Given the description of an element on the screen output the (x, y) to click on. 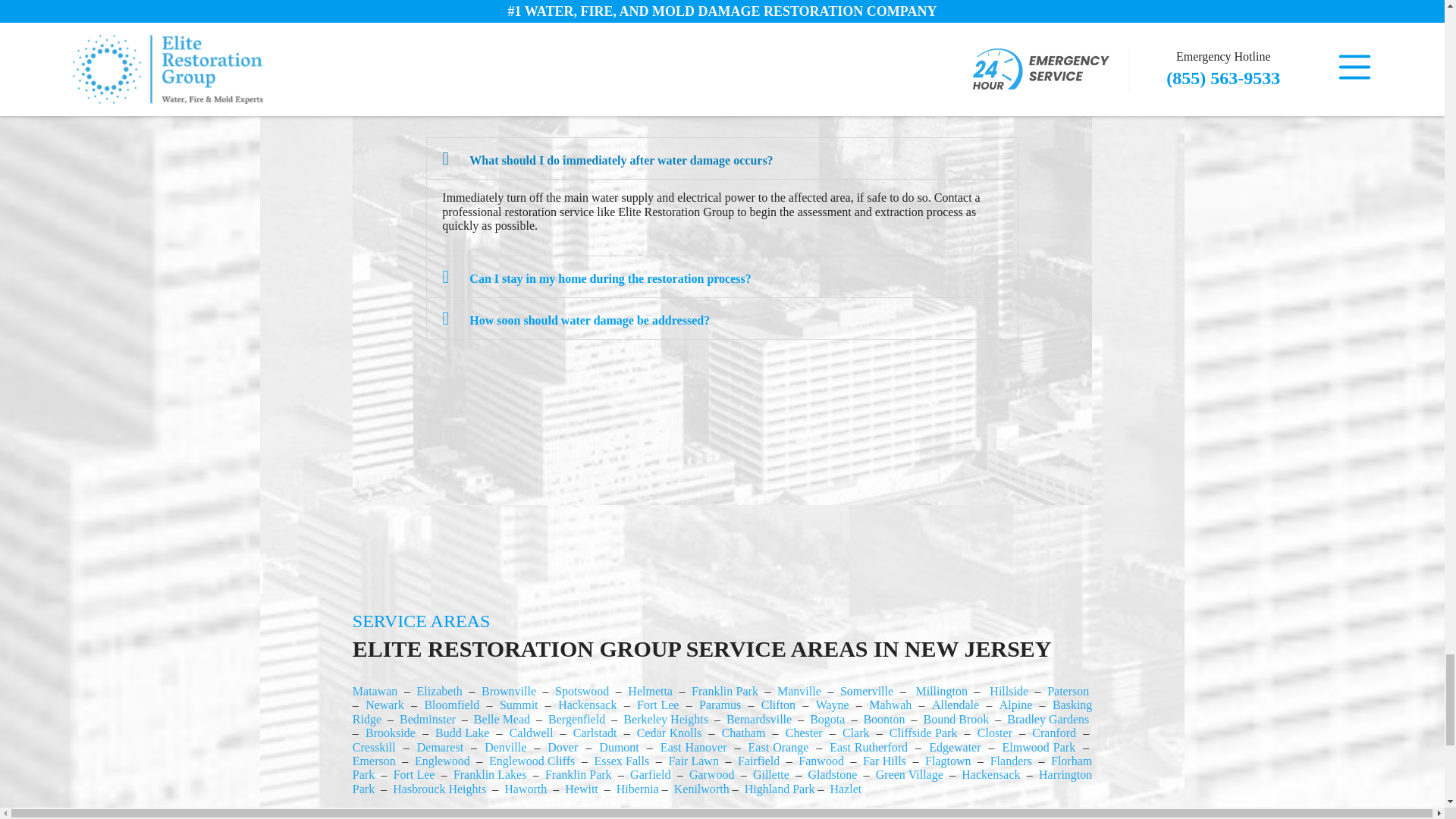
Hackensack (586, 704)
Summit (518, 704)
Bloomfield (451, 704)
Spotswood (581, 690)
Helmetta (649, 690)
Newark (384, 704)
Brownville (508, 690)
Franklin Park (724, 690)
Manville (799, 690)
Matawan (374, 690)
How soon should water damage be addressed? (589, 319)
Can I stay in my home during the restoration process? (609, 278)
Millington (941, 690)
Paterson (1067, 690)
What should I do immediately after water damage occurs? (620, 160)
